Given the description of an element on the screen output the (x, y) to click on. 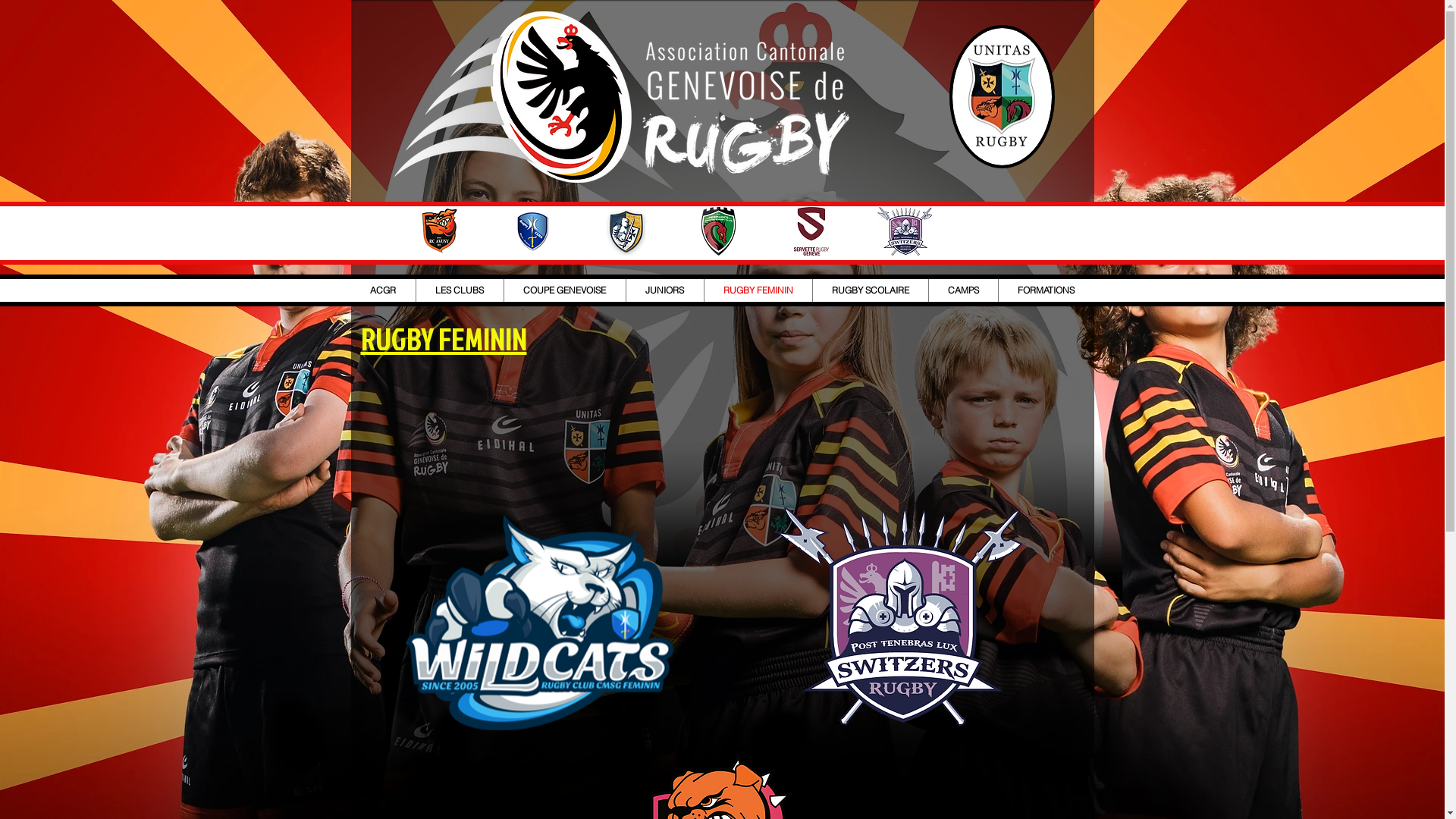
CAMPS Element type: text (962, 289)
LES CLUBS Element type: text (458, 289)
RUGBY FEMININ Element type: text (757, 289)
COUPE GENEVOISE Element type: text (563, 289)
ACGR Element type: text (382, 289)
FORMATIONS Element type: text (1044, 289)
JUNIORS Element type: text (664, 289)
RUGBY SCOLAIRE Element type: text (870, 289)
